Given the description of an element on the screen output the (x, y) to click on. 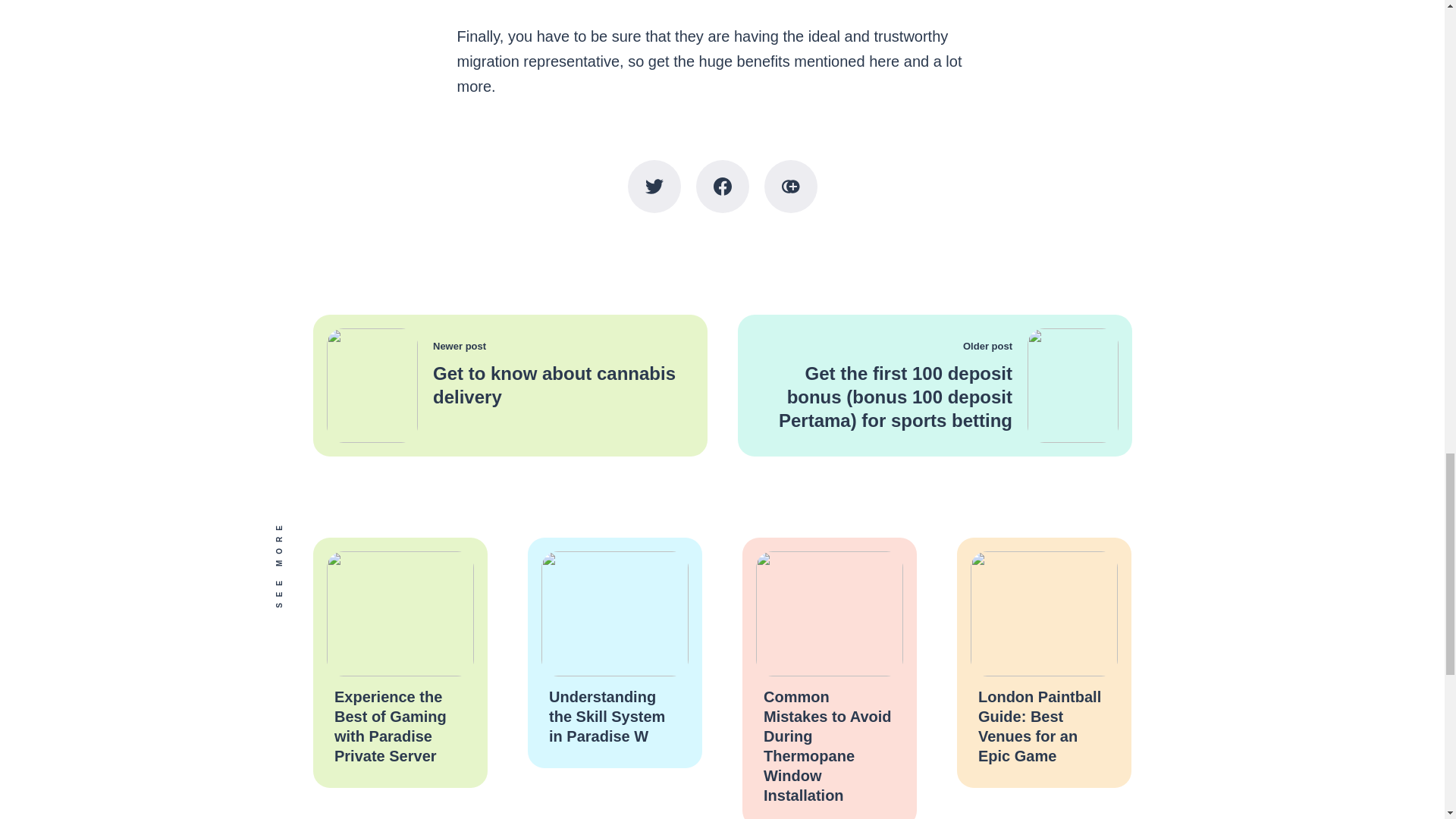
Understanding the Skill System in Paradise W (606, 716)
Get to know about cannabis delivery (553, 385)
London Paintball Guide: Best Venues for an Epic Game (1039, 726)
Experience the Best of Gaming with Paradise Private Server (389, 726)
